Given the description of an element on the screen output the (x, y) to click on. 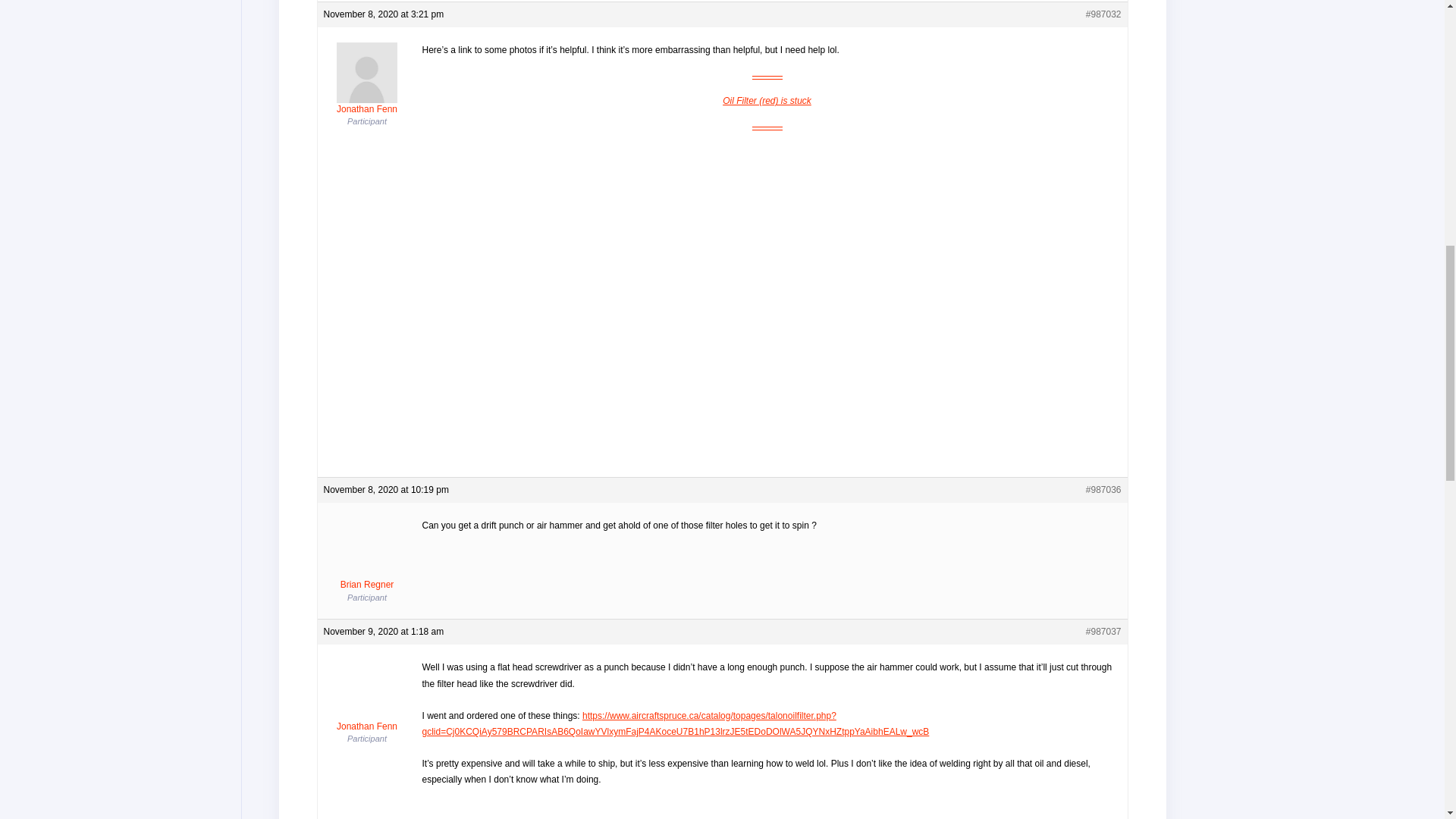
View Jonathan Fenn's profile (366, 696)
Jonathan Fenn (366, 696)
Brian Regner (366, 554)
Jonathan Fenn (366, 79)
View Jonathan Fenn's profile (366, 79)
View Brian Regner's profile (366, 554)
